Given the description of an element on the screen output the (x, y) to click on. 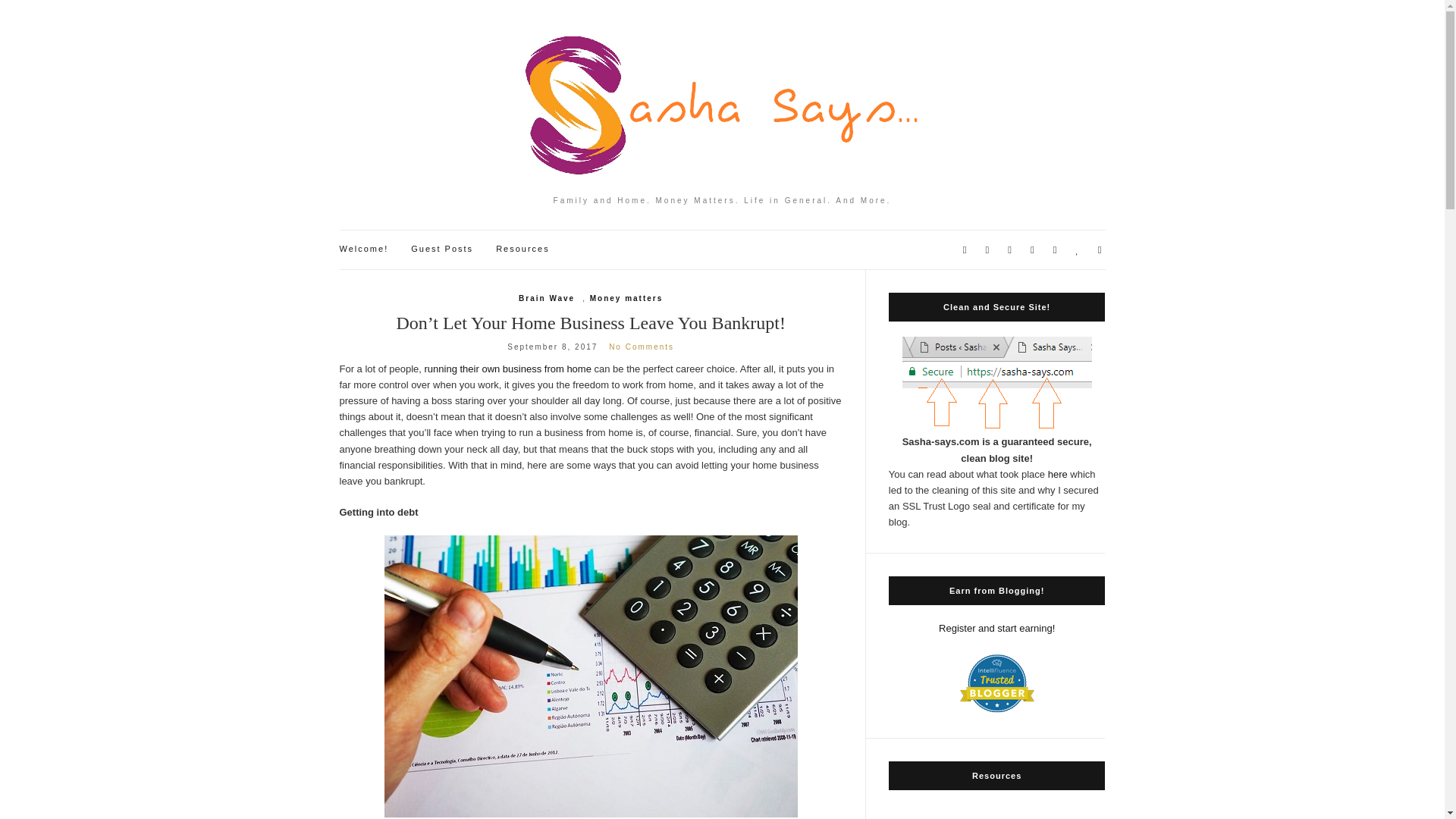
No Comments (641, 347)
Money matters (626, 298)
running their own business from home (508, 368)
Resources (523, 249)
Welcome! (363, 249)
Guest Posts (441, 249)
here (1057, 473)
Register and start earning! (996, 627)
Brain Wave (546, 298)
